Given the description of an element on the screen output the (x, y) to click on. 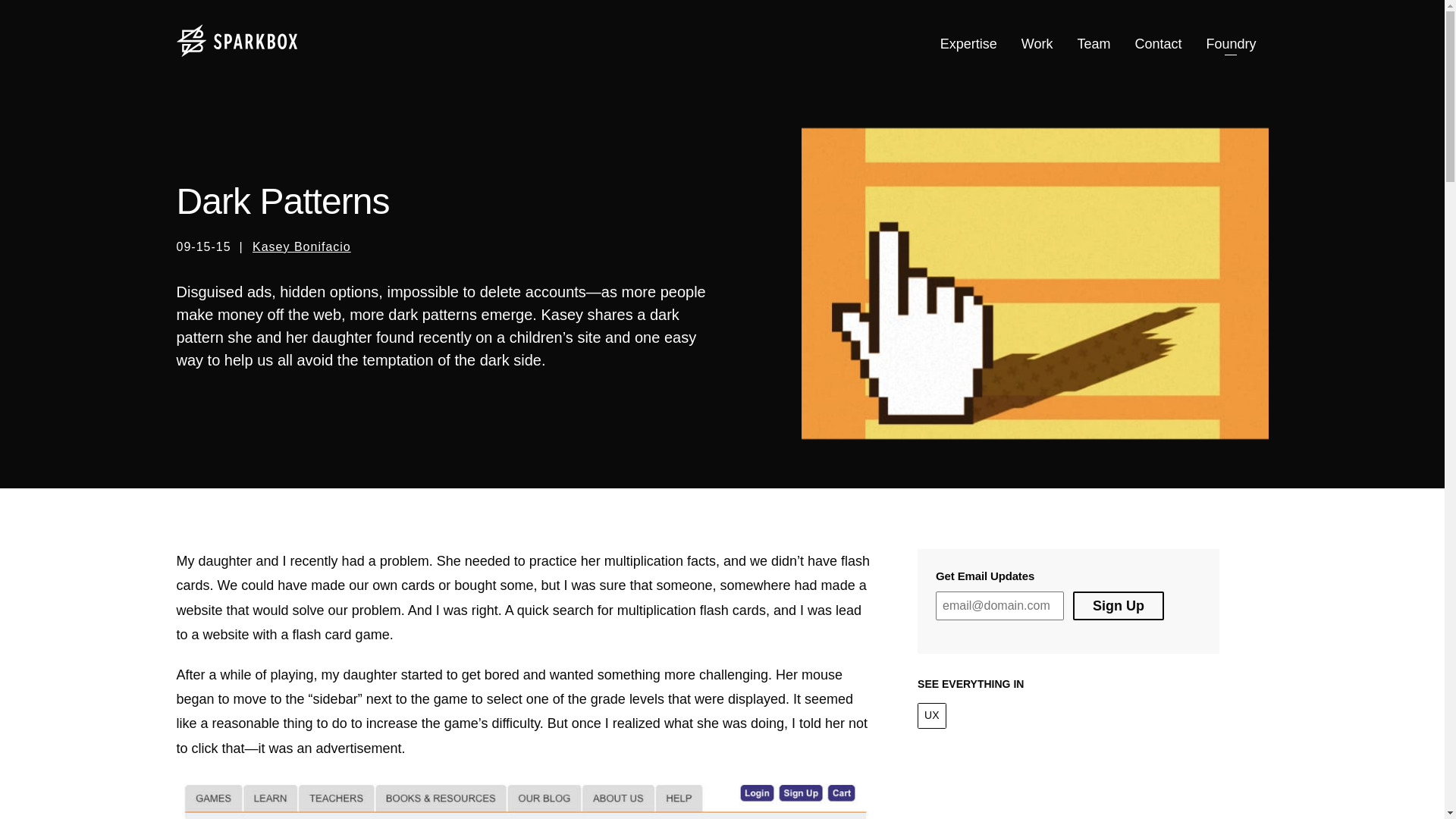
Sign Up (1118, 605)
Team (1093, 44)
Foundry (1230, 44)
Kasey Bonifacio (300, 246)
UX (931, 715)
Expertise (968, 44)
Work (1037, 44)
Contact (1157, 44)
Sparkbox Homepage (237, 40)
